Given the description of an element on the screen output the (x, y) to click on. 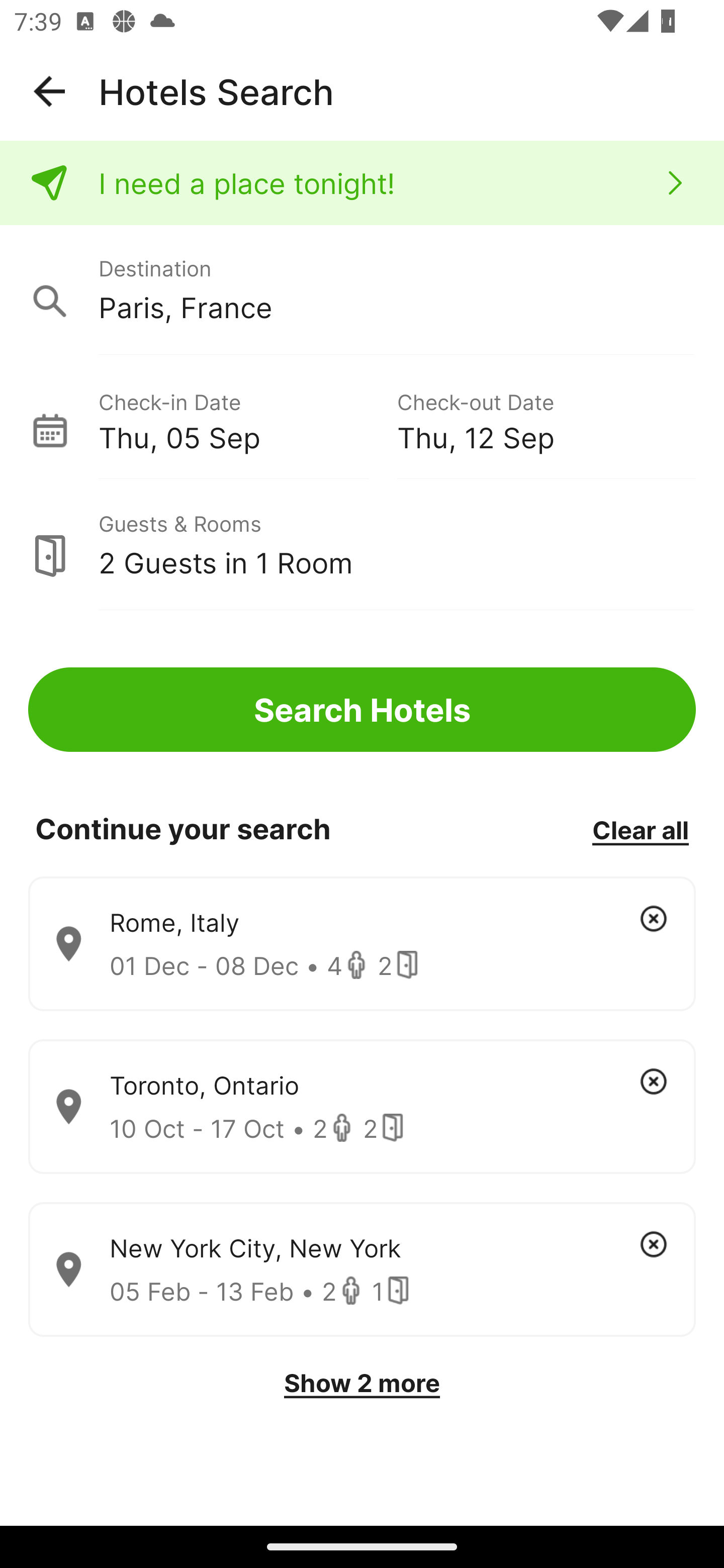
I need a place tonight! (362, 183)
Destination Paris, France (362, 290)
Check-in Date Thu, 05 Sep (247, 418)
Check-out Date Thu, 12 Sep (546, 418)
Guests & Rooms 2 Guests in 1 Room (362, 545)
Search Hotels (361, 709)
Clear all (640, 829)
Rome, Italy 01 Dec - 08 Dec • 4  2  (361, 943)
Toronto, Ontario 10 Oct - 17 Oct • 2  2  (361, 1106)
New York City, New York 05 Feb - 13 Feb • 2  1  (361, 1269)
Show 2 more (362, 1382)
